Given the description of an element on the screen output the (x, y) to click on. 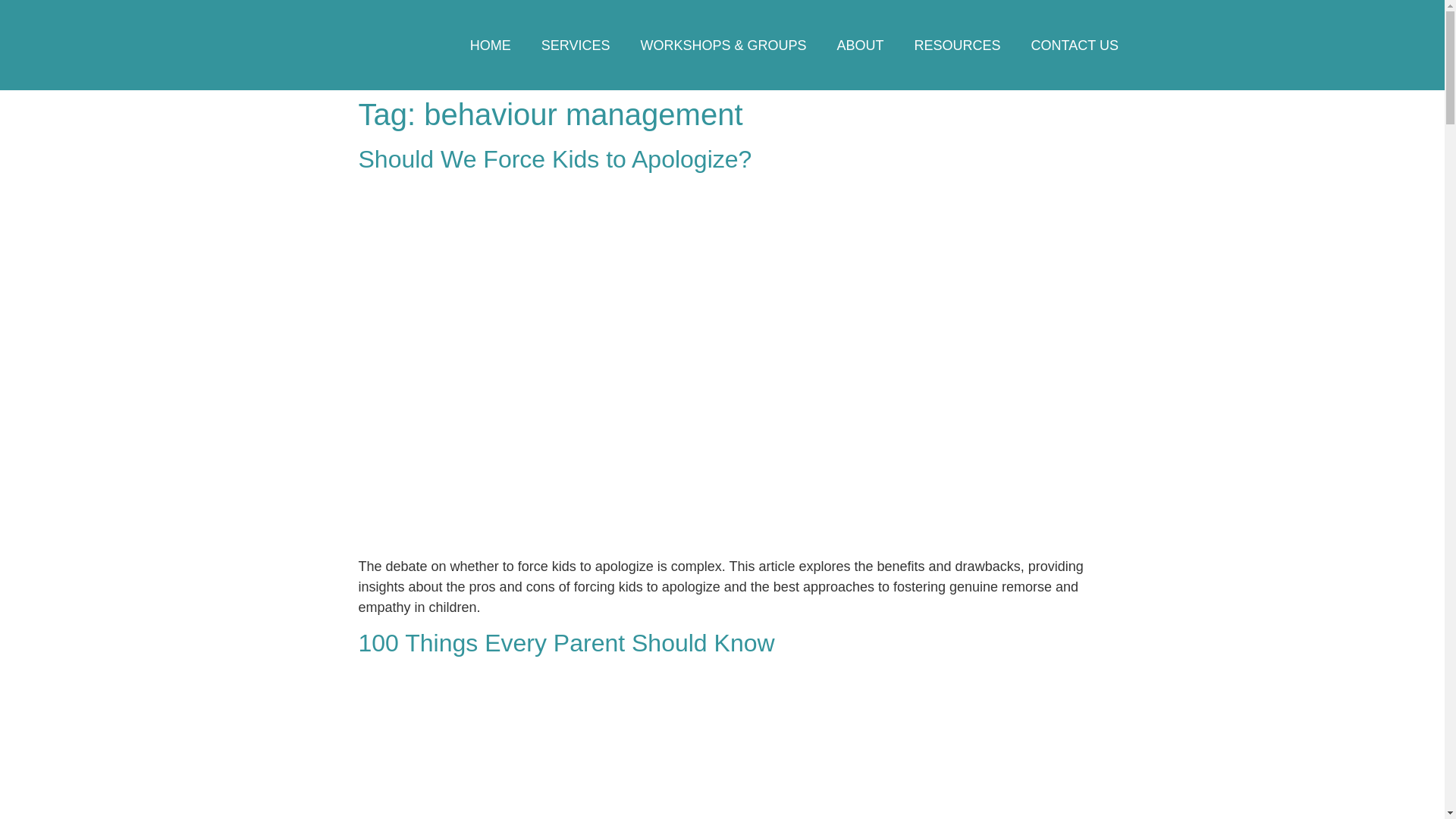
ABOUT (860, 45)
CONTACT US (1075, 45)
SERVICES (575, 45)
HOME (489, 45)
RESOURCES (957, 45)
